Given the description of an element on the screen output the (x, y) to click on. 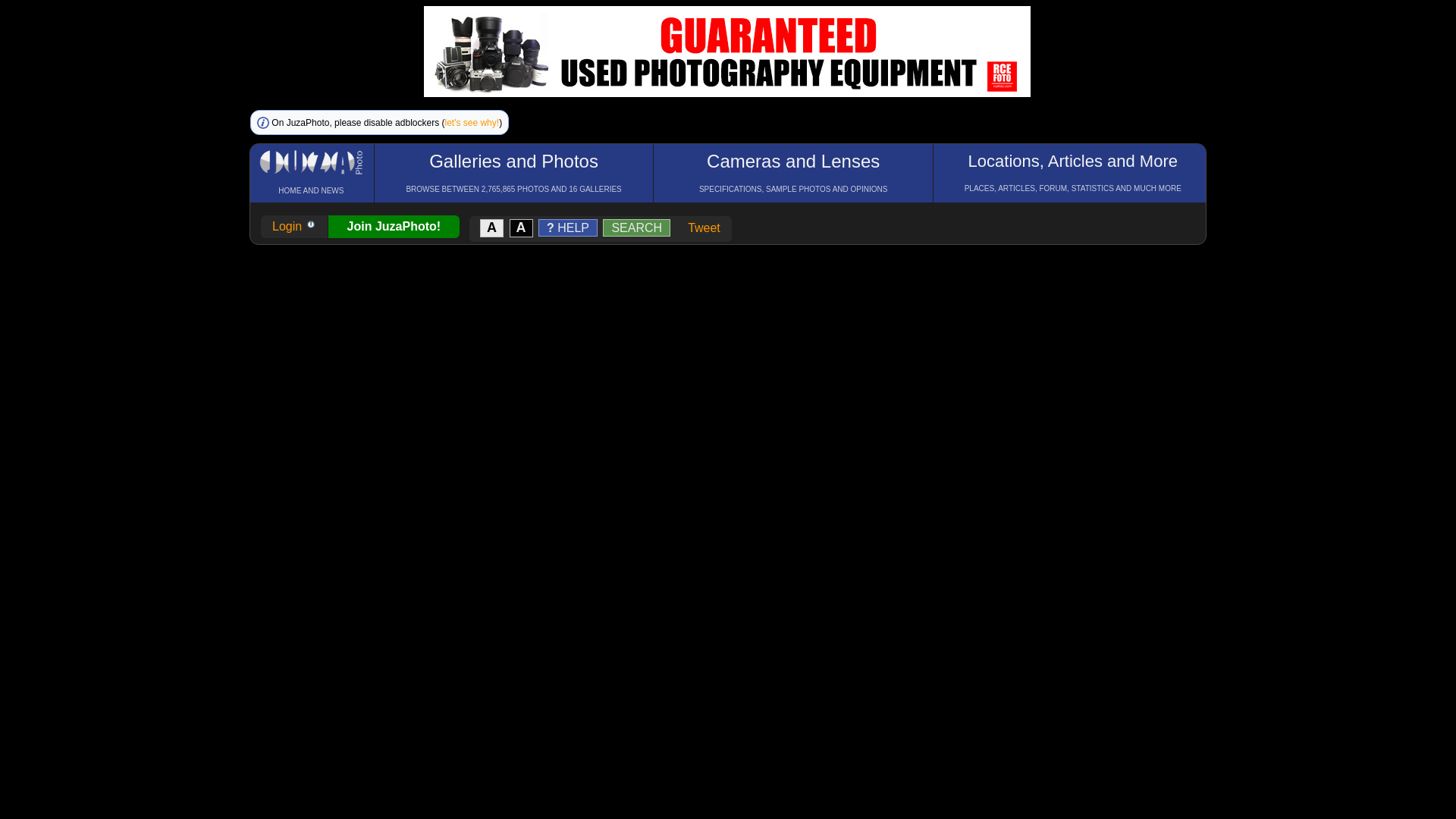
SEARCH (637, 227)
Join JuzaPhoto! (394, 226)
Login (293, 226)
A (492, 227)
let's see why! (471, 122)
? HELP (568, 227)
Tweet (703, 227)
A (522, 227)
